Given the description of an element on the screen output the (x, y) to click on. 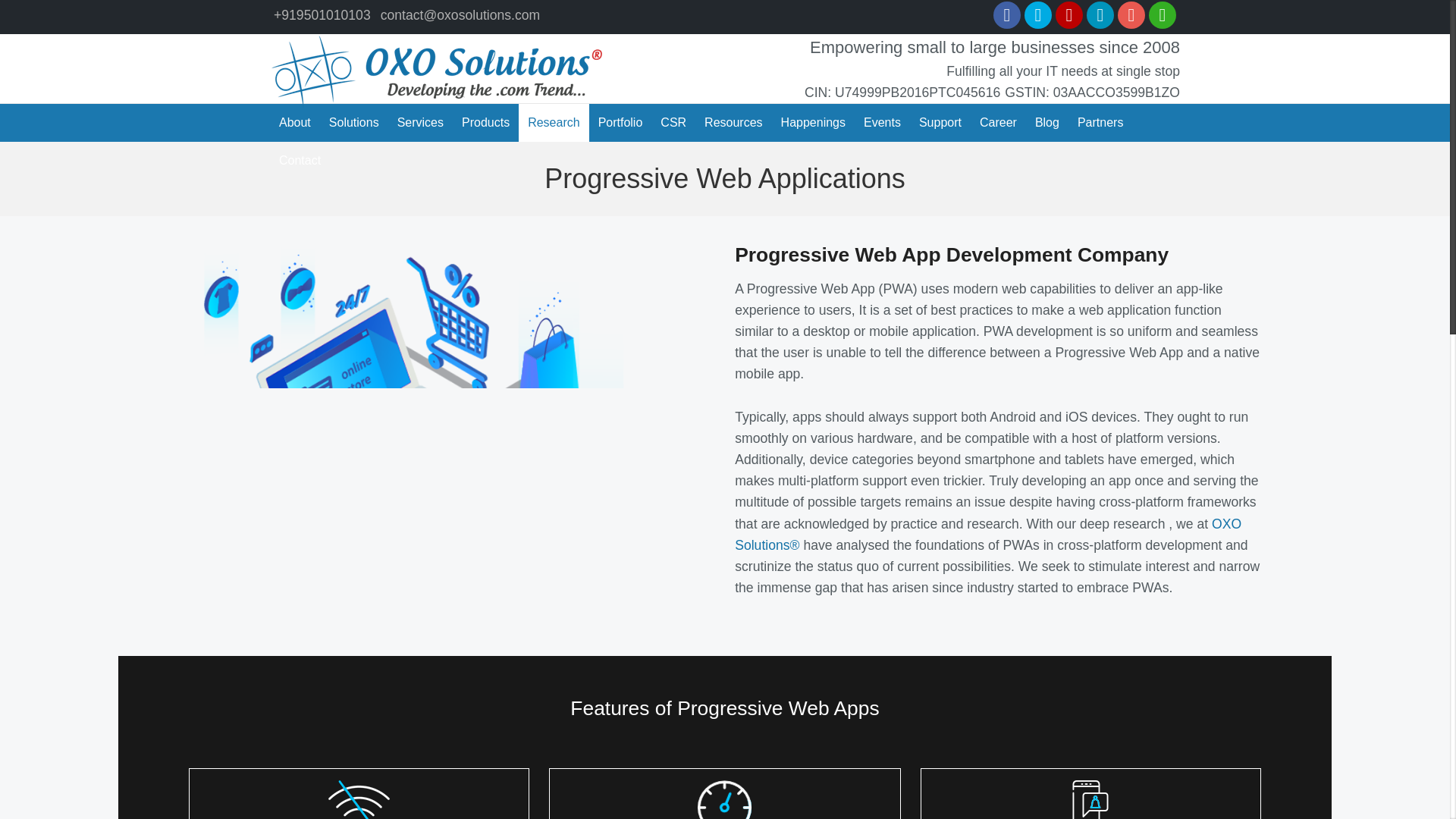
OXO Events (882, 122)
Instagram (1131, 14)
Portfolio (620, 122)
CSR (672, 122)
YouTube (1069, 14)
Facebook (1006, 14)
LinkedIn (1099, 14)
Resources (733, 122)
Solutions (354, 122)
Research (553, 122)
